Given the description of an element on the screen output the (x, y) to click on. 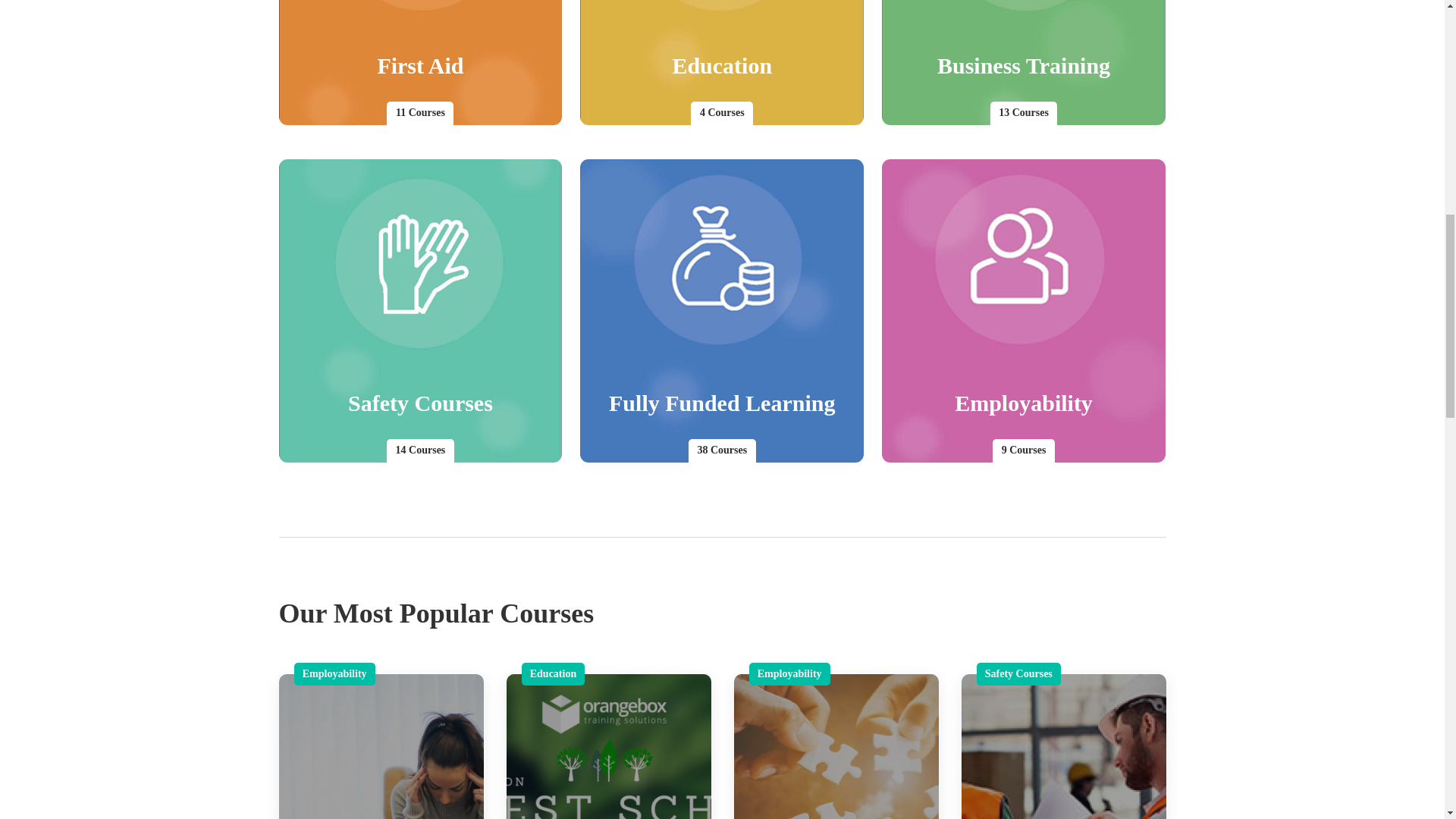
Courses with "First Aid" category (420, 62)
Courses with "Fully Funded Learning" category (721, 310)
Courses with "Employability" category (1024, 310)
Courses with "Business Training" category (1024, 62)
Courses with "Education" category (721, 62)
Courses with "Safety Courses" category (420, 310)
